Given the description of an element on the screen output the (x, y) to click on. 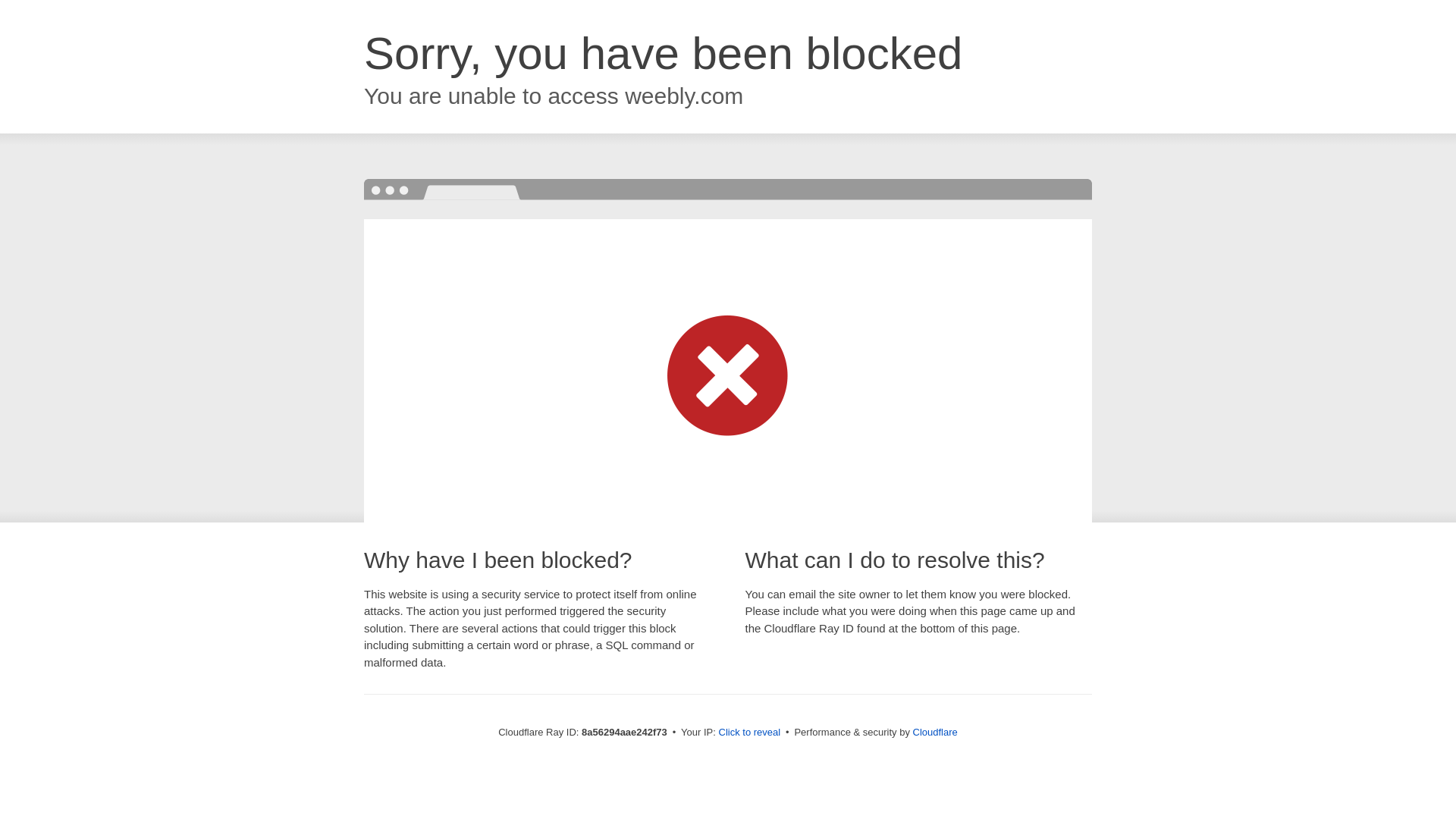
Cloudflare (935, 731)
Click to reveal (749, 732)
